Given the description of an element on the screen output the (x, y) to click on. 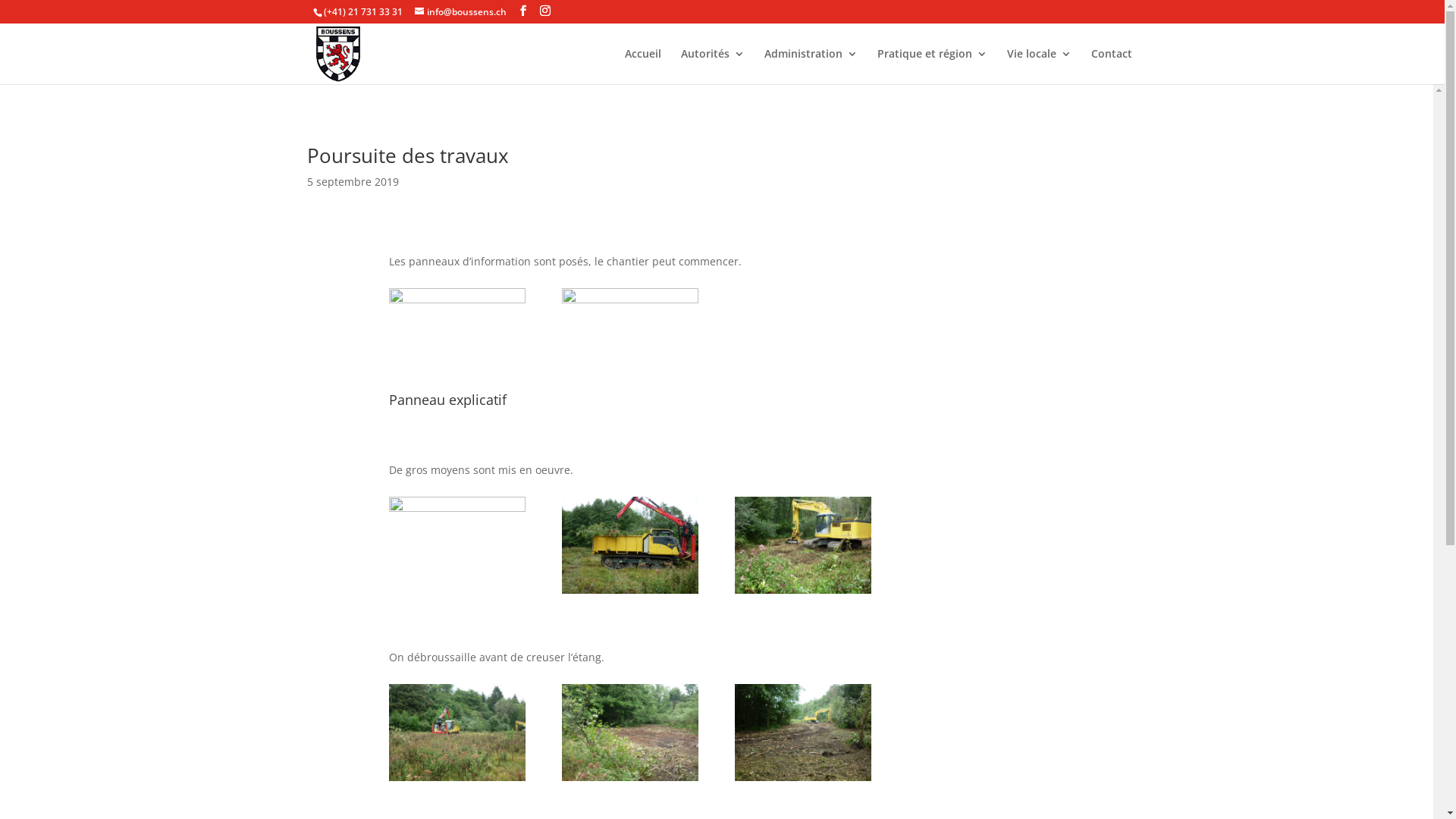
marais_1909_travaux02 Element type: hover (629, 589)
marais_1909_travaux03 Element type: hover (802, 589)
Panneau explicatif Element type: hover (457, 298)
Vie locale Element type: text (1039, 66)
Administration Element type: text (810, 66)
info@boussens.ch Element type: text (459, 11)
Accueil Element type: text (642, 66)
Contact Element type: text (1110, 66)
